Given the description of an element on the screen output the (x, y) to click on. 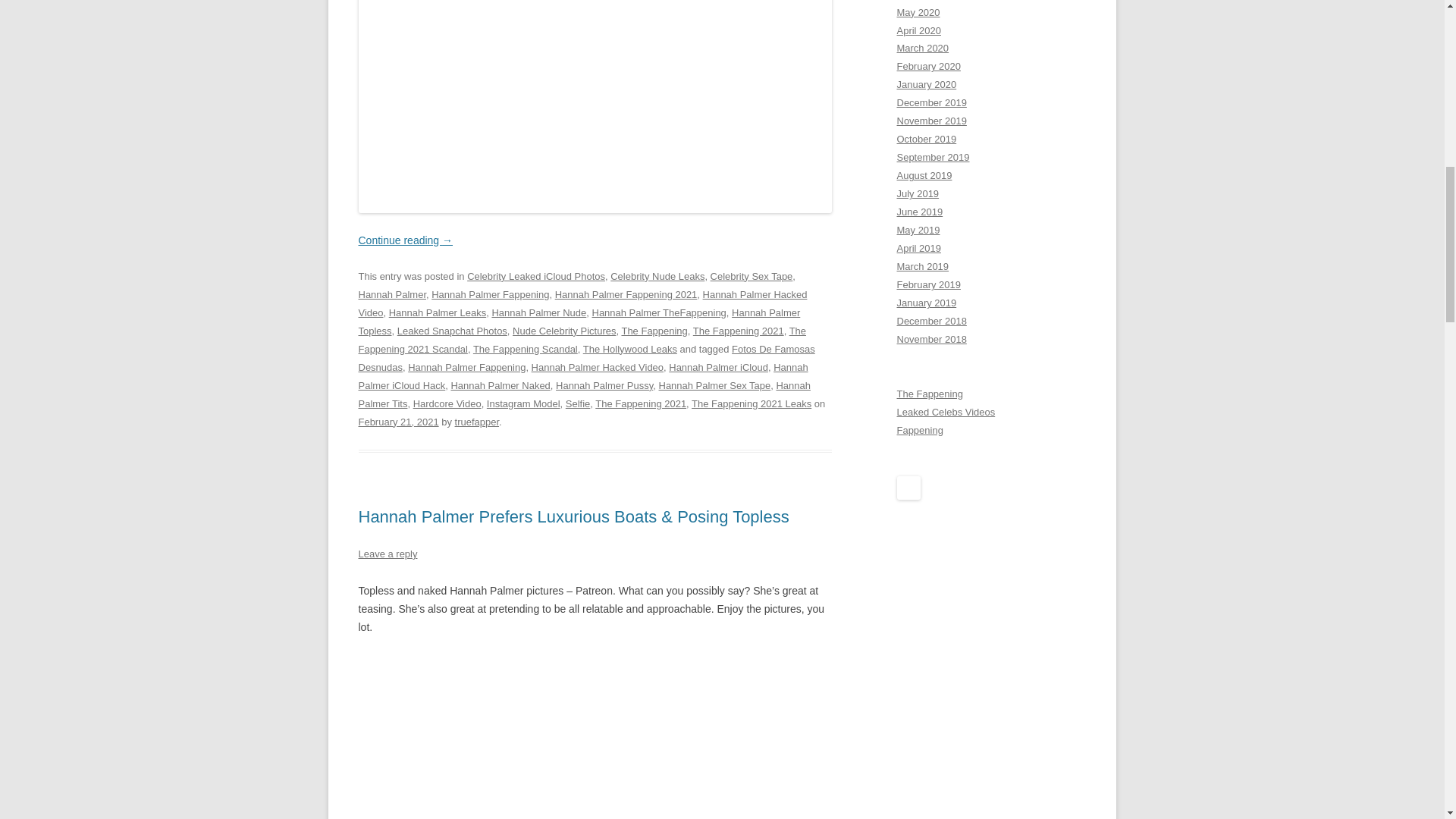
Nude Celebrity Pictures (563, 330)
Hannah Palmer Topless (578, 321)
The Fappening (654, 330)
3:29 pm (398, 421)
The Fappening 2021 (640, 403)
The Fappening 2021 (738, 330)
Celebrity Nude Leaks (657, 276)
Hannah Palmer Fappening (489, 294)
The Fappening 2021 Leaks (750, 403)
The Hollywood Leaks (630, 348)
